Given the description of an element on the screen output the (x, y) to click on. 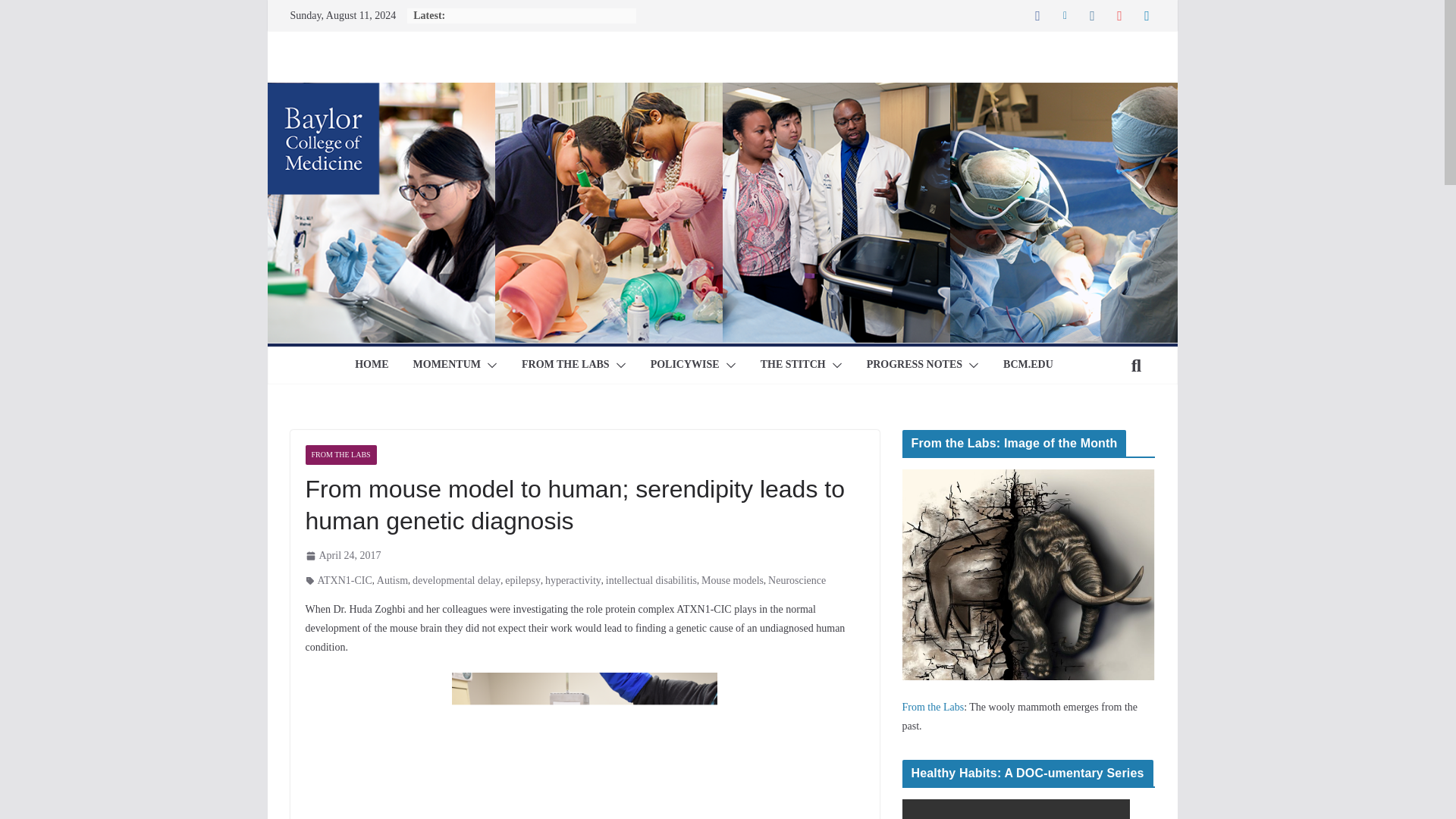
BCM.EDU (1027, 364)
PROGRESS NOTES (914, 364)
POLICYWISE (684, 364)
HOME (371, 364)
FROM THE LABS (565, 364)
THE STITCH (792, 364)
2:15 pm (342, 555)
MOMENTUM (446, 364)
